Given the description of an element on the screen output the (x, y) to click on. 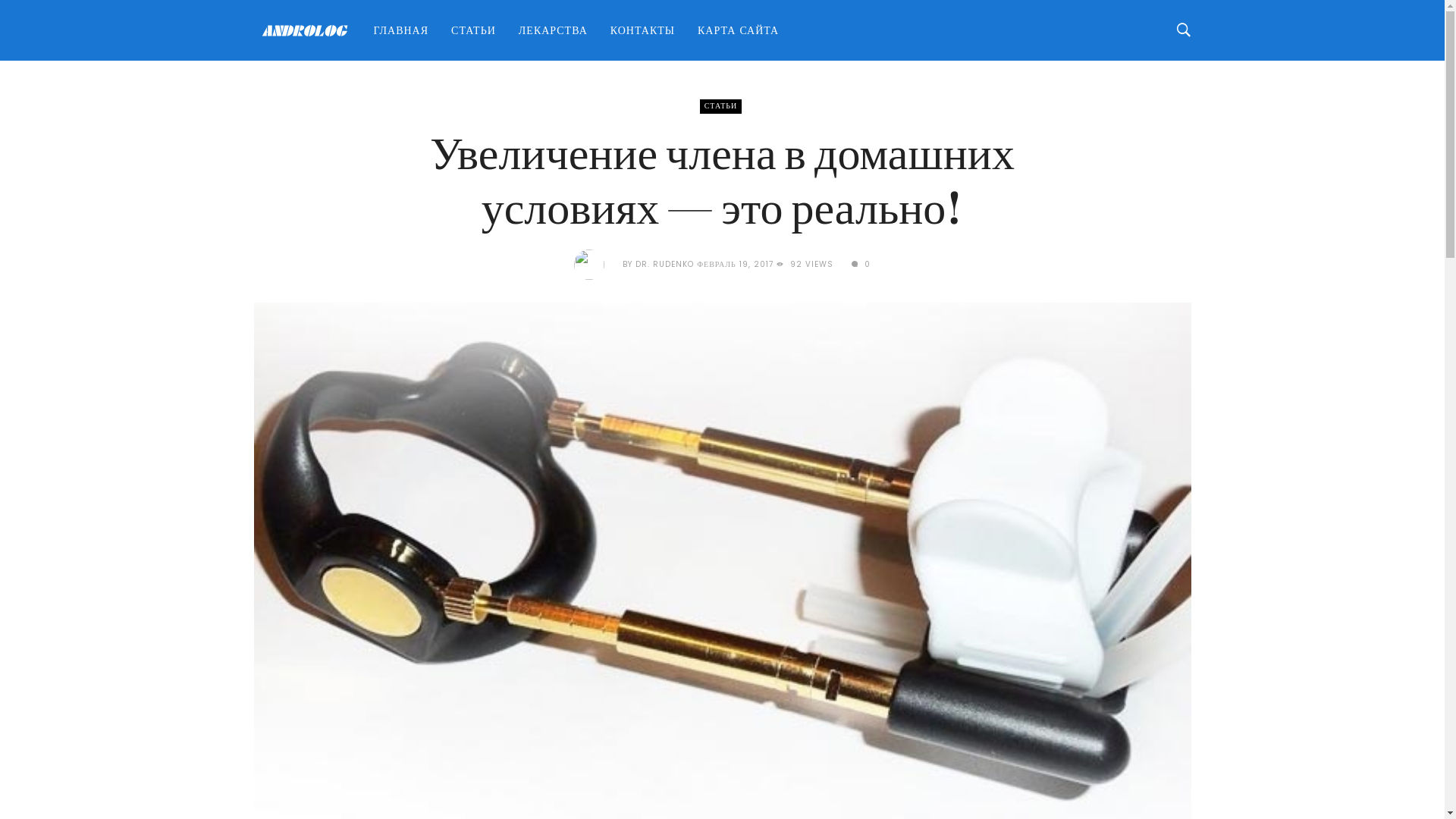
DR. RUDENKO Element type: text (664, 263)
